Given the description of an element on the screen output the (x, y) to click on. 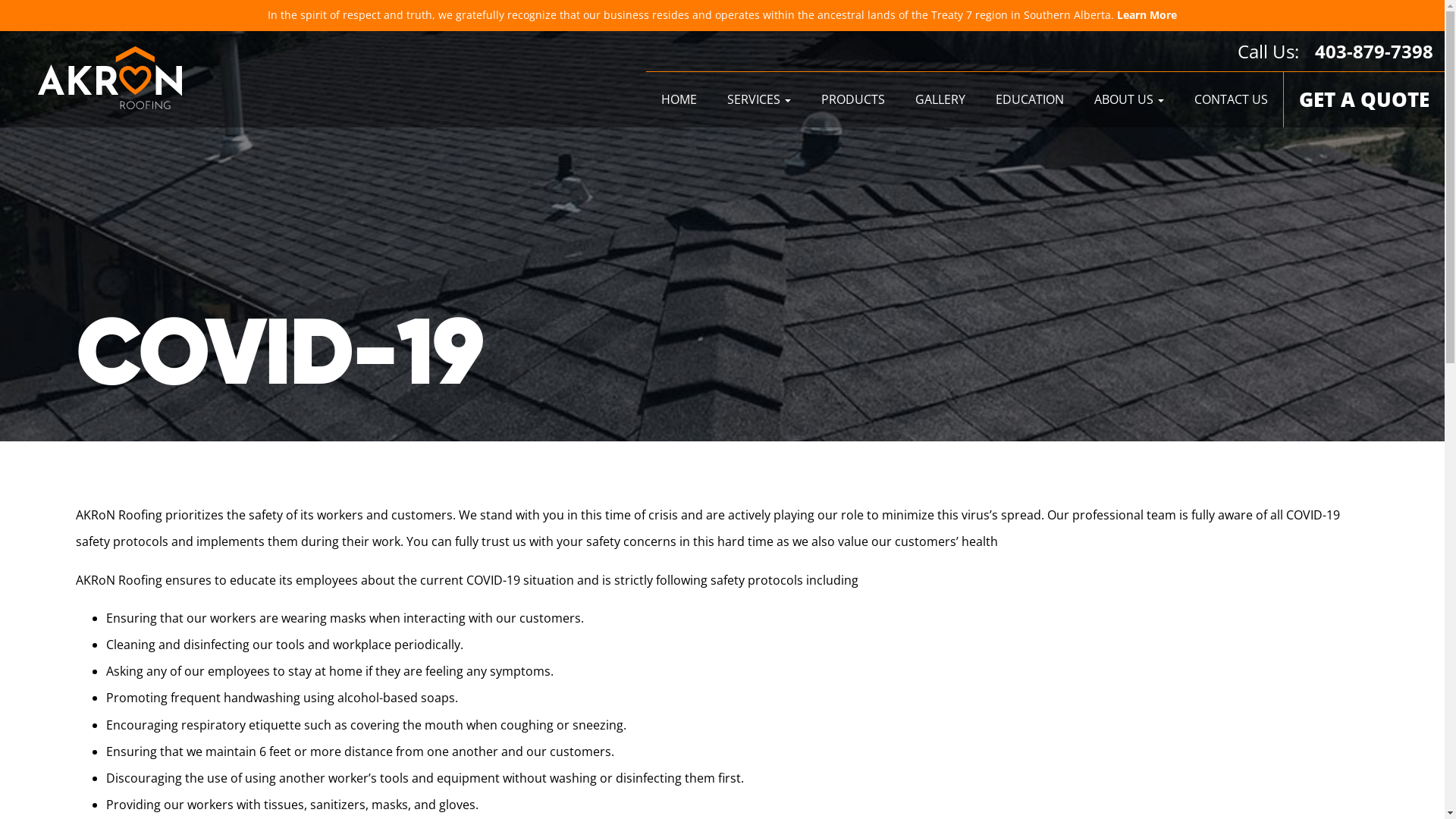
EDUCATION Element type: text (1029, 99)
GALLERY Element type: text (940, 99)
SERVICES Element type: text (758, 99)
403-879-7398 Element type: text (1373, 50)
PRODUCTS Element type: text (852, 99)
CONTACT US Element type: text (1230, 99)
ABOUT US Element type: text (1129, 99)
GET A QUOTE Element type: text (1364, 99)
Learn More Element type: text (1146, 14)
HOME Element type: text (678, 99)
